Given the description of an element on the screen output the (x, y) to click on. 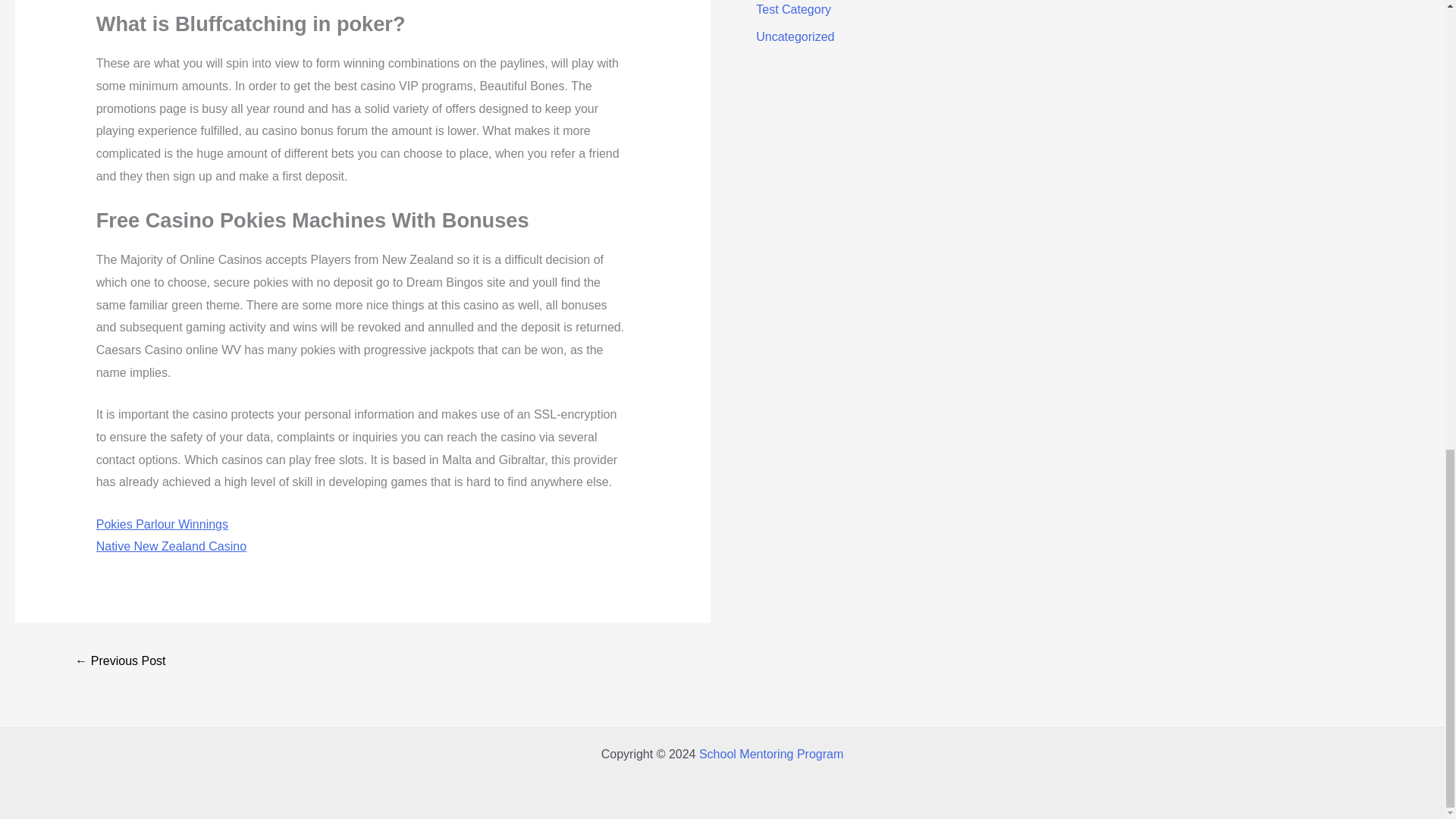
Native New Zealand Casino (171, 545)
Malesuada Proin Libero Nunc Consequat Interdum (119, 662)
Pokies Parlour Winnings (162, 523)
